Given the description of an element on the screen output the (x, y) to click on. 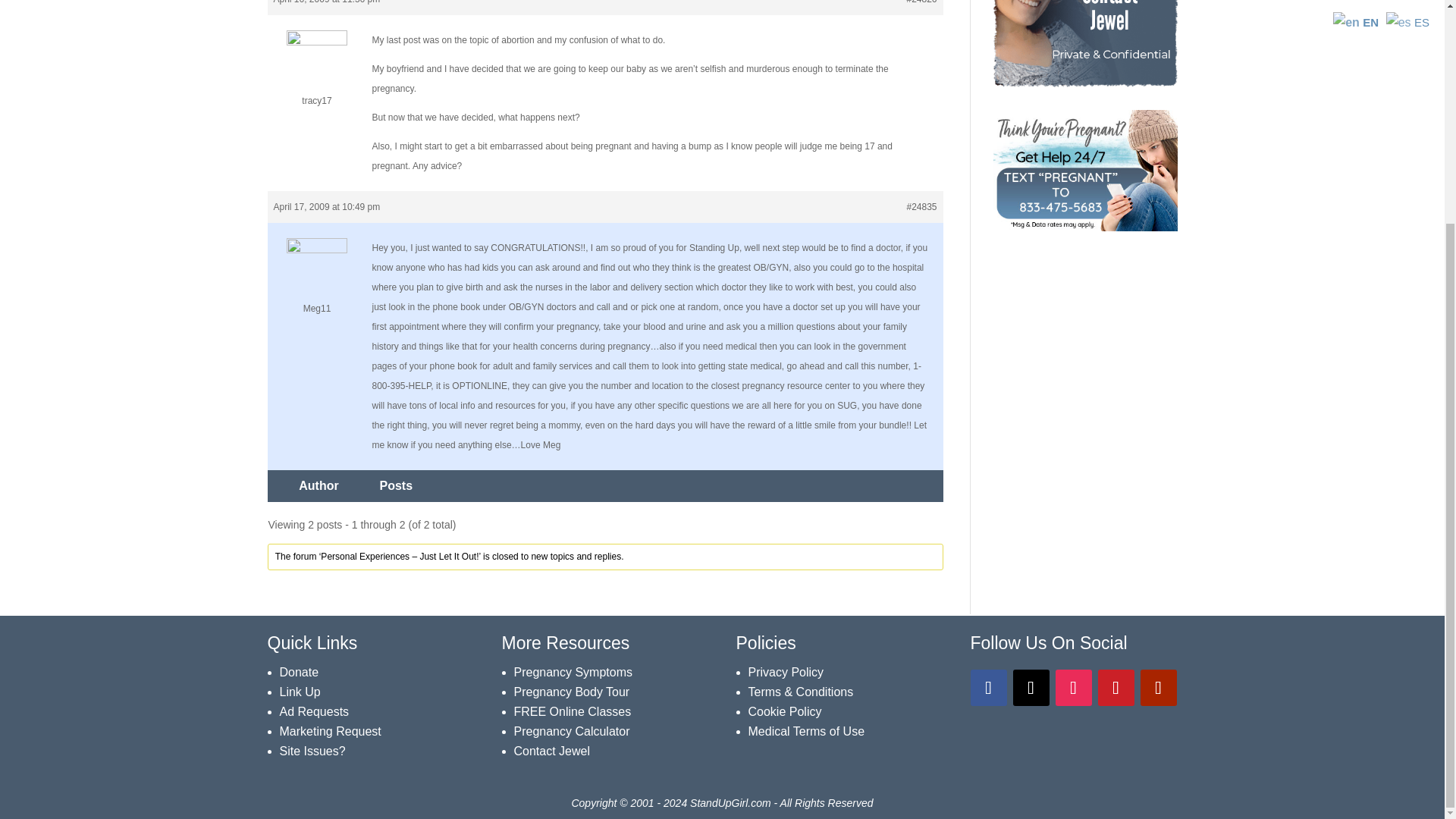
Follow on Twitter (1031, 687)
Follow on Instagram (1073, 687)
BrightCourse Online Classes (572, 711)
Ad Requests (314, 711)
Privacy Policy (786, 671)
Follow on Pinterest (1115, 687)
Follow on Facebook (989, 687)
Site issue contact us (312, 750)
Follow on Youtube (1158, 687)
donate to Standupgirl.com foundation (298, 671)
